Given the description of an element on the screen output the (x, y) to click on. 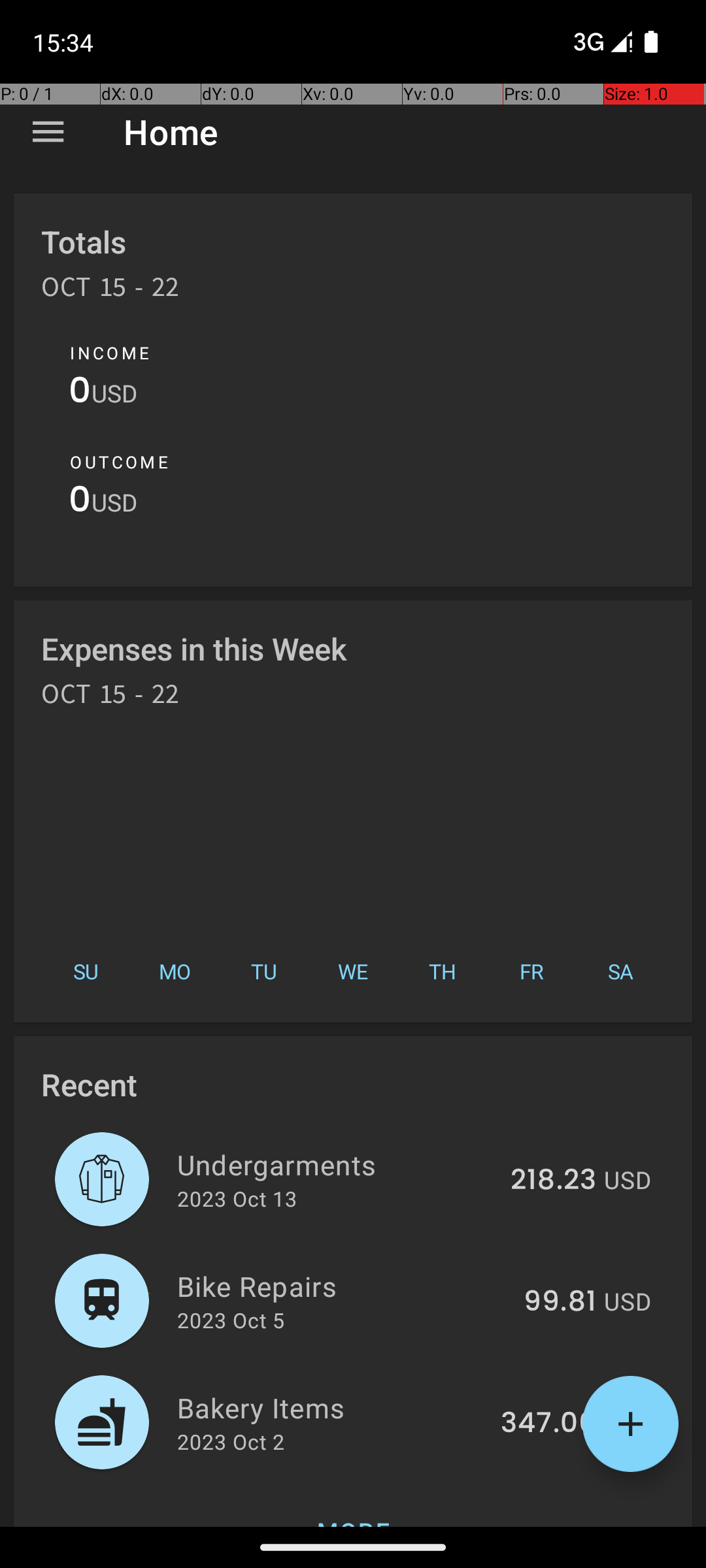
MORE Element type: android.widget.Button (352, 1504)
Undergarments Element type: android.widget.TextView (336, 1164)
218.23 Element type: android.widget.TextView (552, 1180)
Bike Repairs Element type: android.widget.TextView (342, 1285)
2023 Oct 5 Element type: android.widget.TextView (230, 1320)
99.81 Element type: android.widget.TextView (559, 1301)
Bakery Items Element type: android.widget.TextView (331, 1407)
2023 Oct 2 Element type: android.widget.TextView (230, 1441)
347.06 Element type: android.widget.TextView (548, 1423)
